Given the description of an element on the screen output the (x, y) to click on. 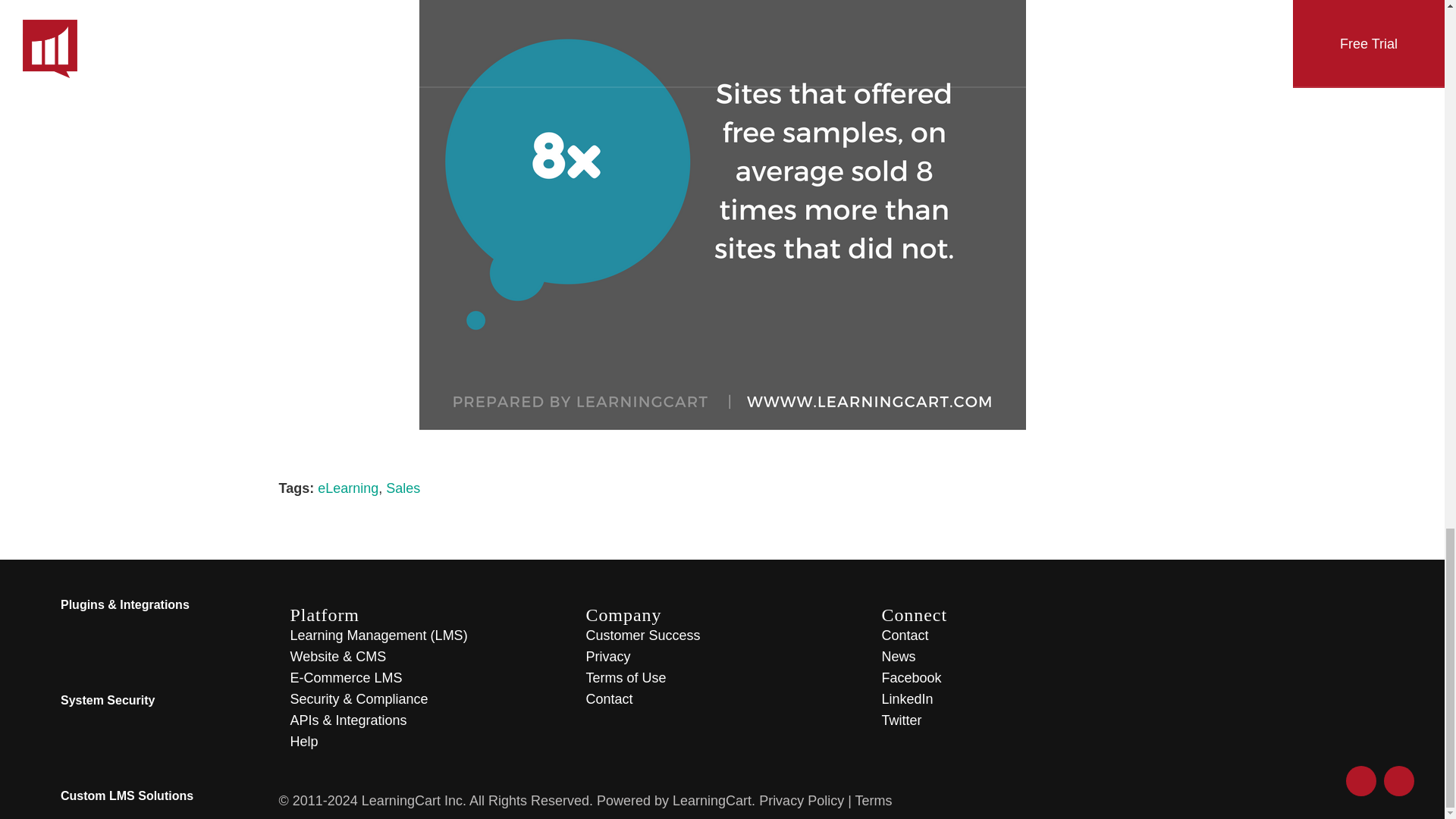
E-Commerce LMS (352, 677)
Contact (616, 698)
Customer Success (649, 635)
Contact (911, 635)
News (905, 656)
Terms of Use (633, 677)
Sales (402, 488)
eLearning (347, 488)
Privacy (615, 656)
Help (311, 741)
